Given the description of an element on the screen output the (x, y) to click on. 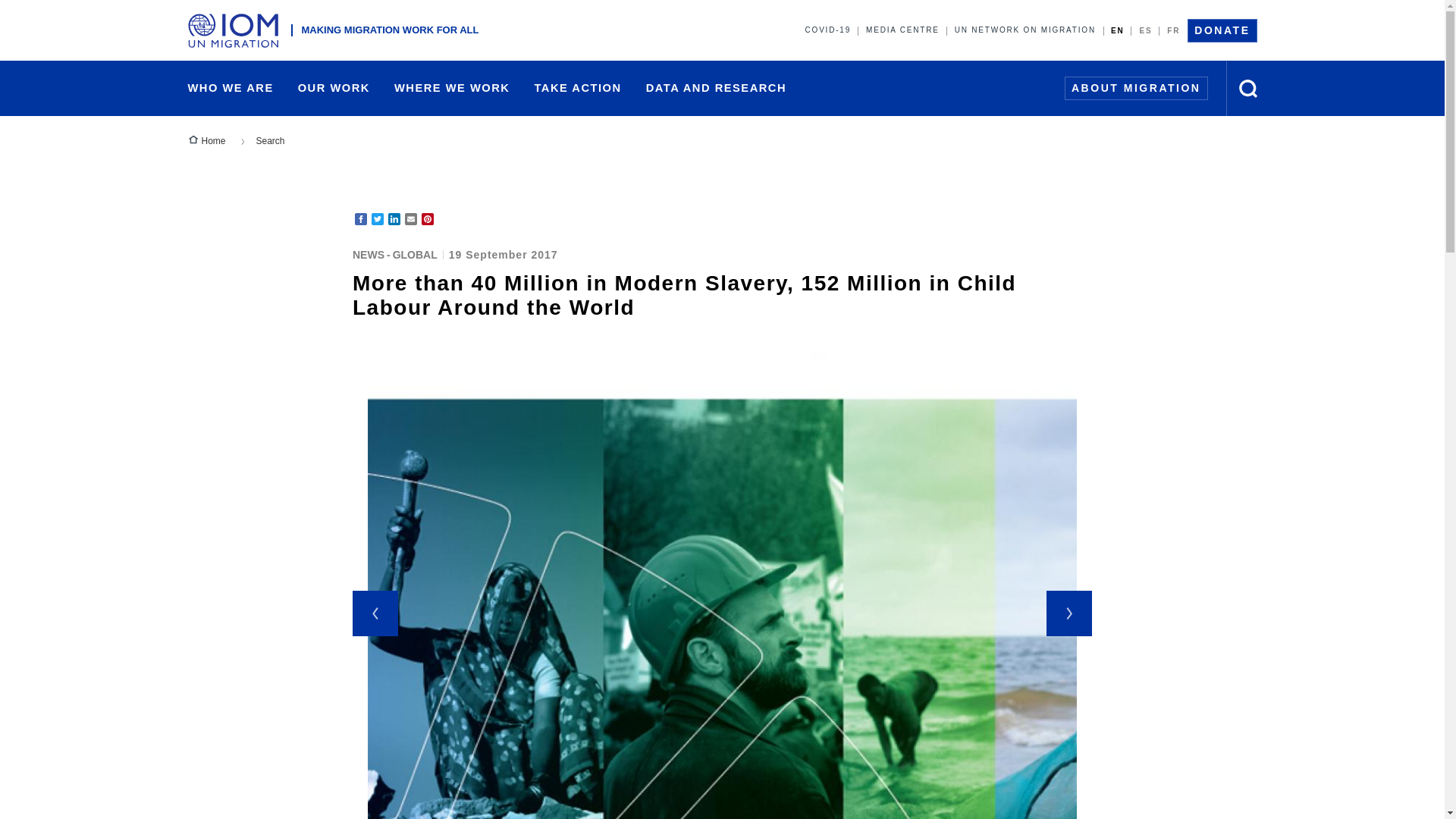
COVID-19 (828, 30)
OUR WORK (333, 88)
Home (236, 30)
FR (1173, 30)
ES (1144, 30)
EN (1117, 30)
DONATE (1222, 29)
WHO WE ARE (230, 88)
MEDIA CENTRE (903, 30)
Skip to main content (721, 1)
UN NETWORK ON MIGRATION (1025, 30)
